Given the description of an element on the screen output the (x, y) to click on. 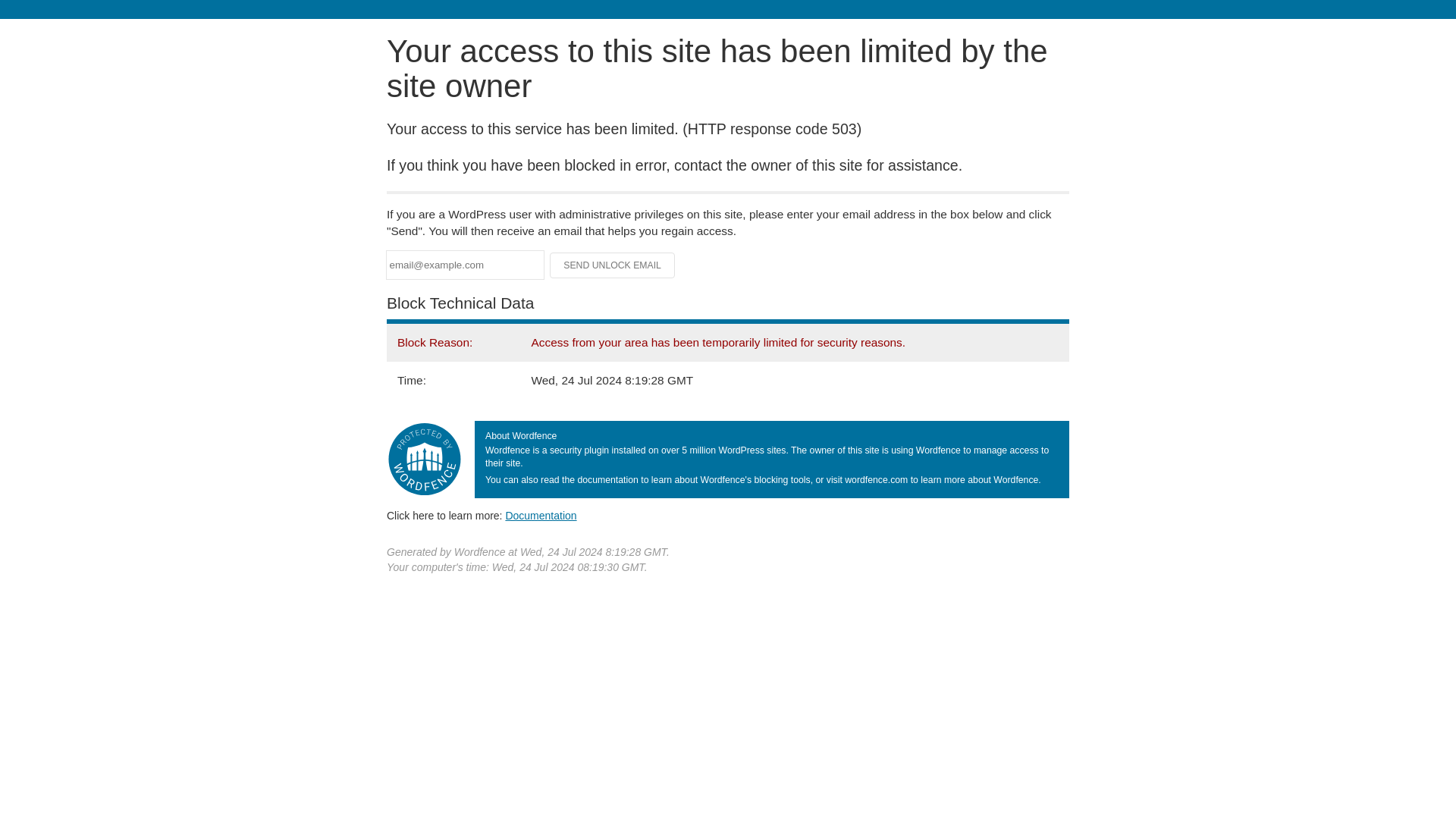
Send Unlock Email (612, 265)
Send Unlock Email (612, 265)
Documentation (540, 515)
